Given the description of an element on the screen output the (x, y) to click on. 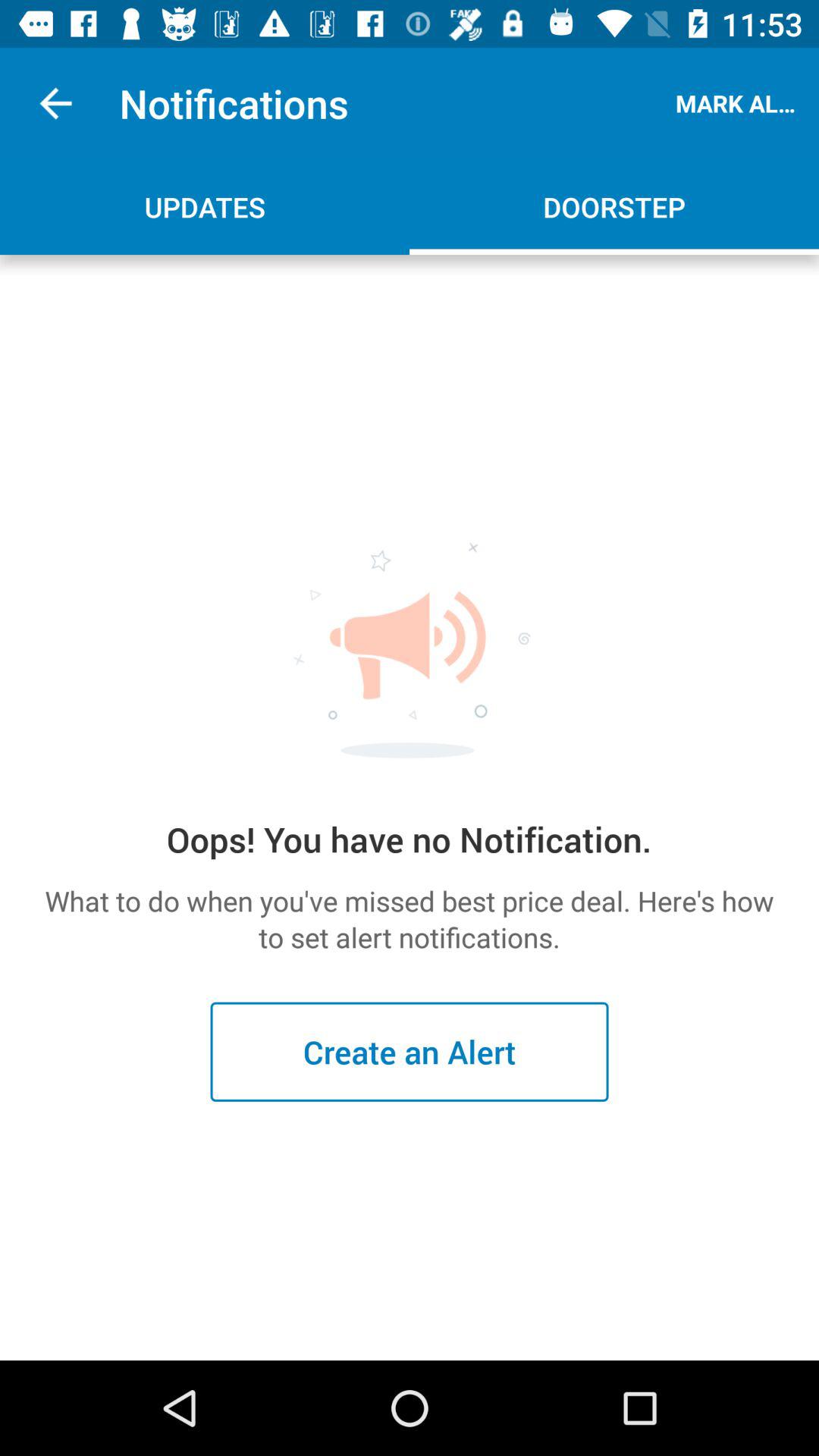
launch the icon below the mark all read app (614, 206)
